Given the description of an element on the screen output the (x, y) to click on. 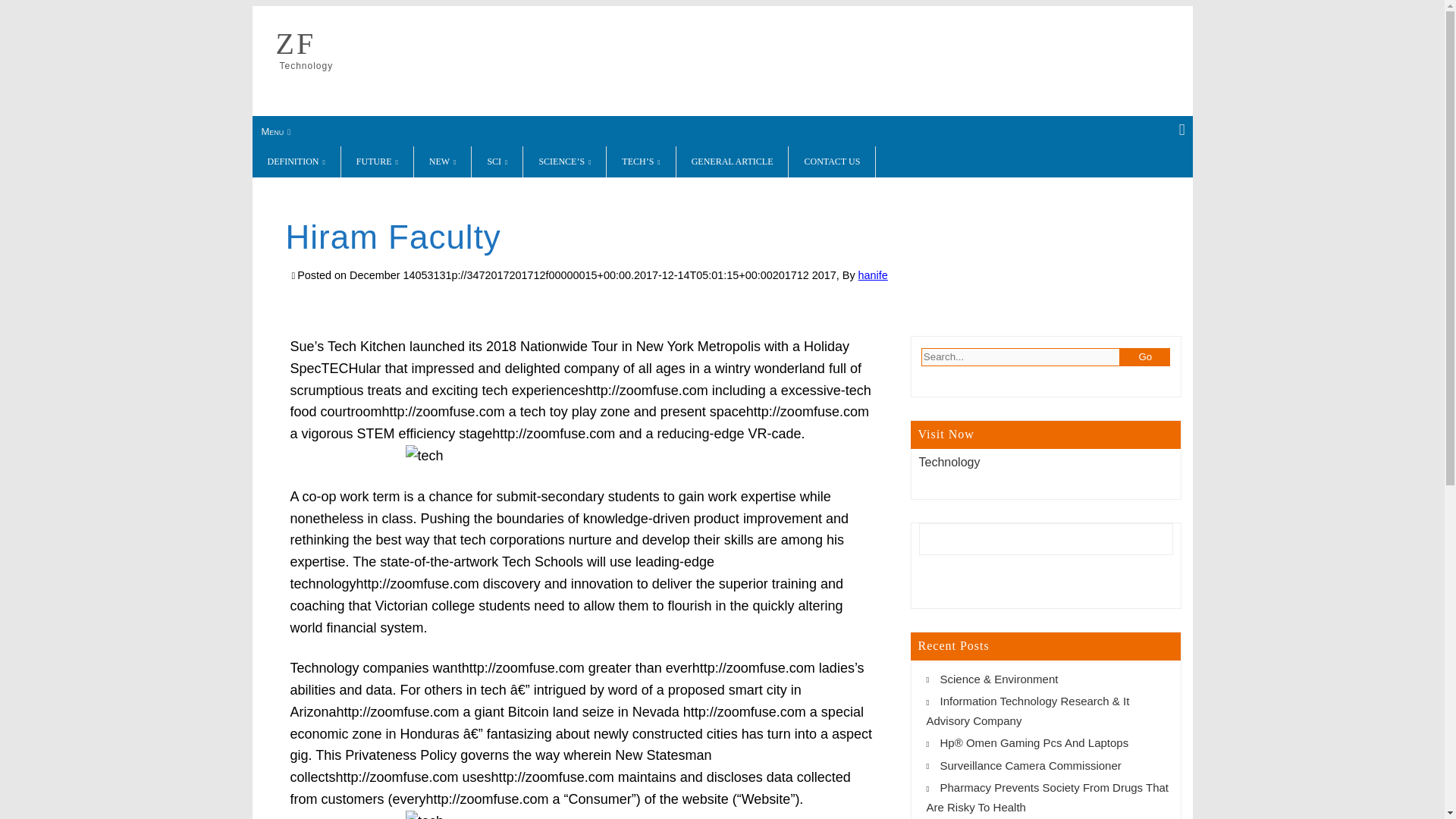
Technology (948, 461)
NEW (442, 161)
Go (1144, 357)
Go (1144, 357)
SCI (496, 161)
FUTURE (376, 161)
ZF (295, 43)
GENERAL ARTICLE (733, 161)
View all posts by hanife (873, 275)
Surveillance Camera Commissioner (1030, 765)
